Given the description of an element on the screen output the (x, y) to click on. 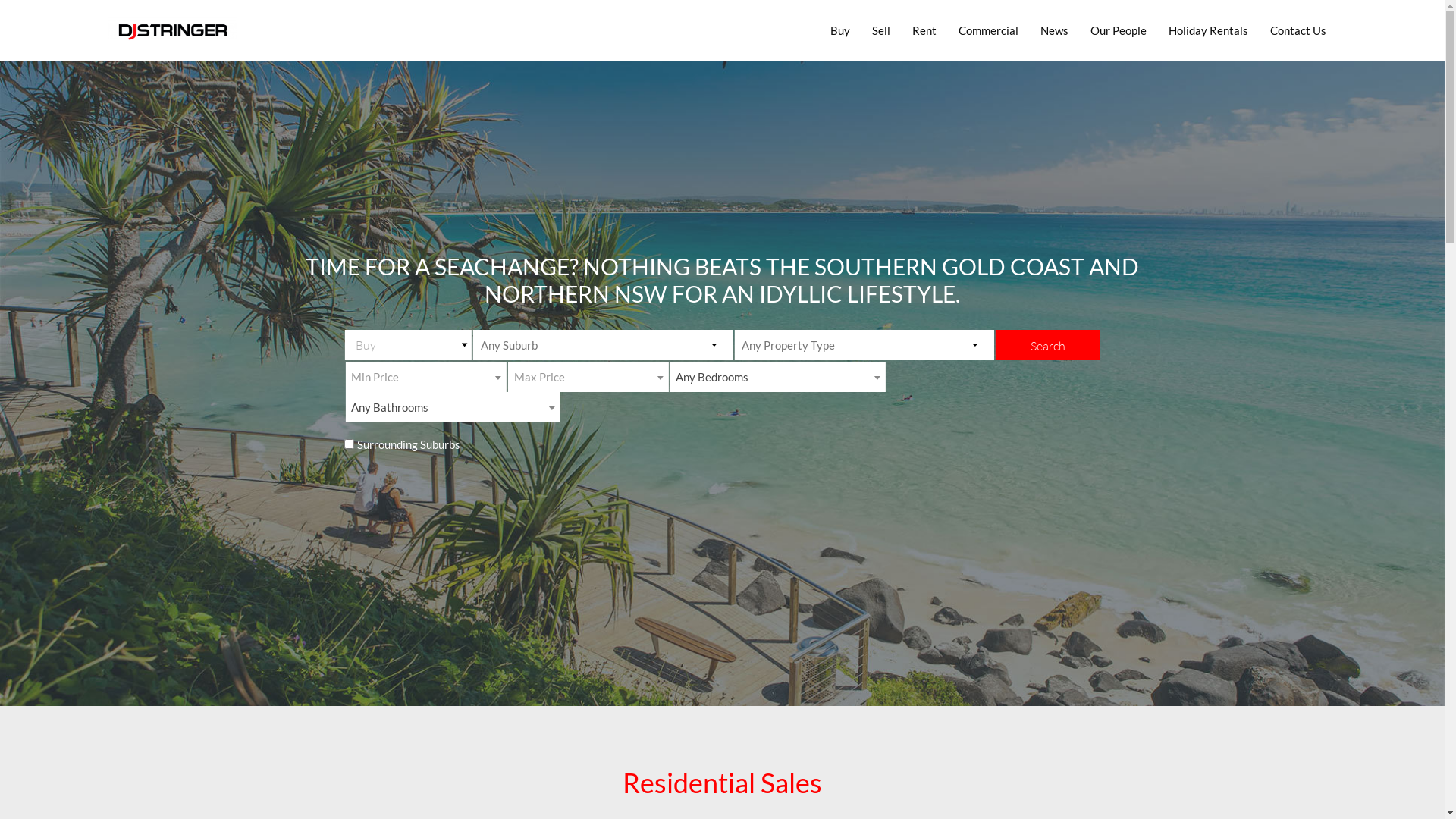
Commercial Element type: text (988, 30)
News Element type: text (1054, 30)
Sell Element type: text (881, 30)
Holiday Rentals Element type: text (1208, 30)
Contact Us Element type: text (1298, 30)
Search Element type: text (1047, 344)
Our People Element type: text (1118, 30)
Rent Element type: text (924, 30)
Buy Element type: text (839, 30)
